Given the description of an element on the screen output the (x, y) to click on. 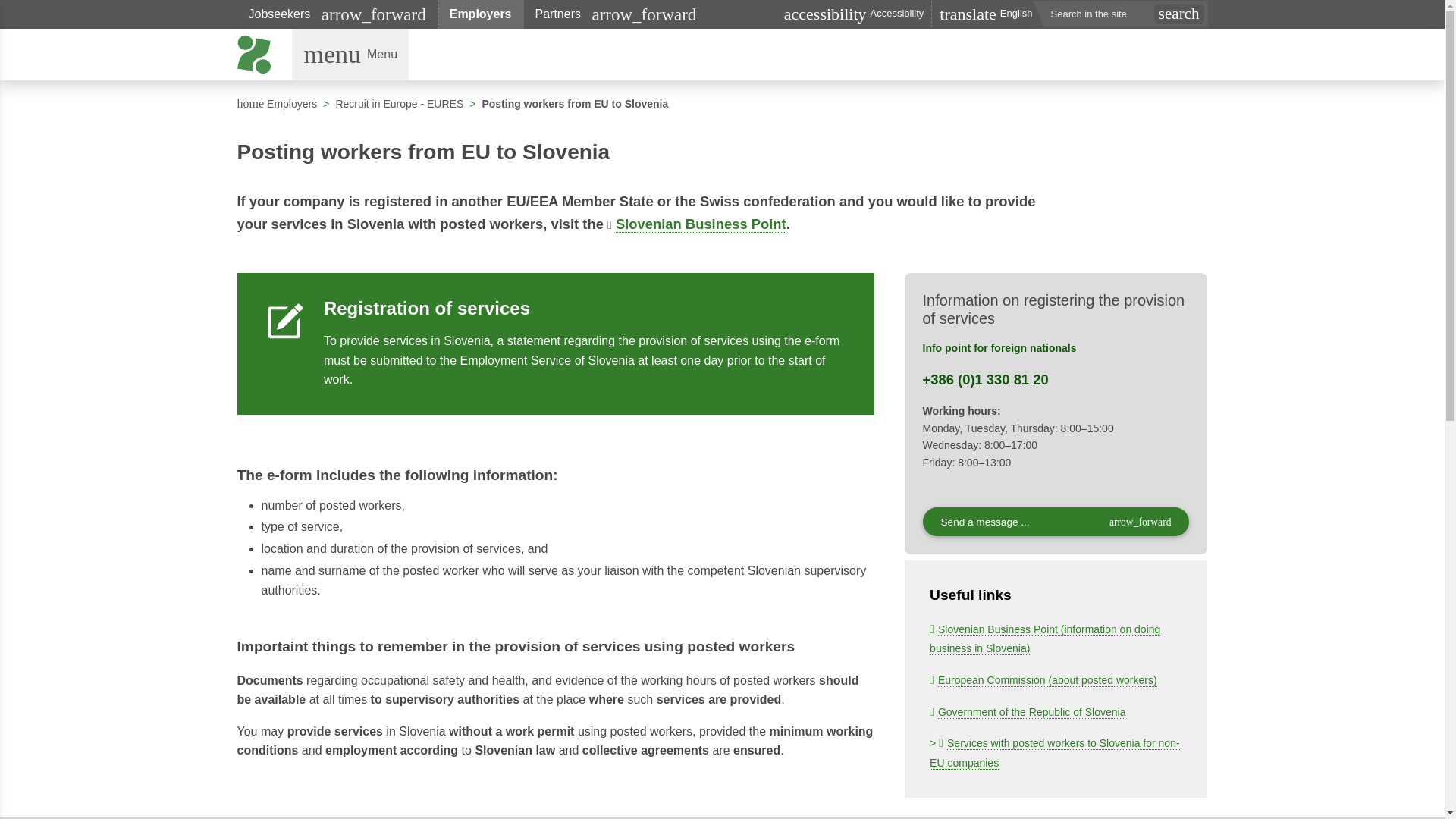
Employers (480, 13)
Zavod za zaposlovanje (254, 54)
Employers (480, 13)
On posted workers - European Commission (350, 54)
Government of the Republic of Slovenia (1043, 680)
Slovenian Business Point (1027, 711)
Recruit in Europe - EURES (696, 223)
search (398, 103)
the governmental portal of the Republic of Slovenia  (276, 103)
Partners (1179, 14)
Jobseekers (1027, 711)
Accessibility (616, 13)
